Given the description of an element on the screen output the (x, y) to click on. 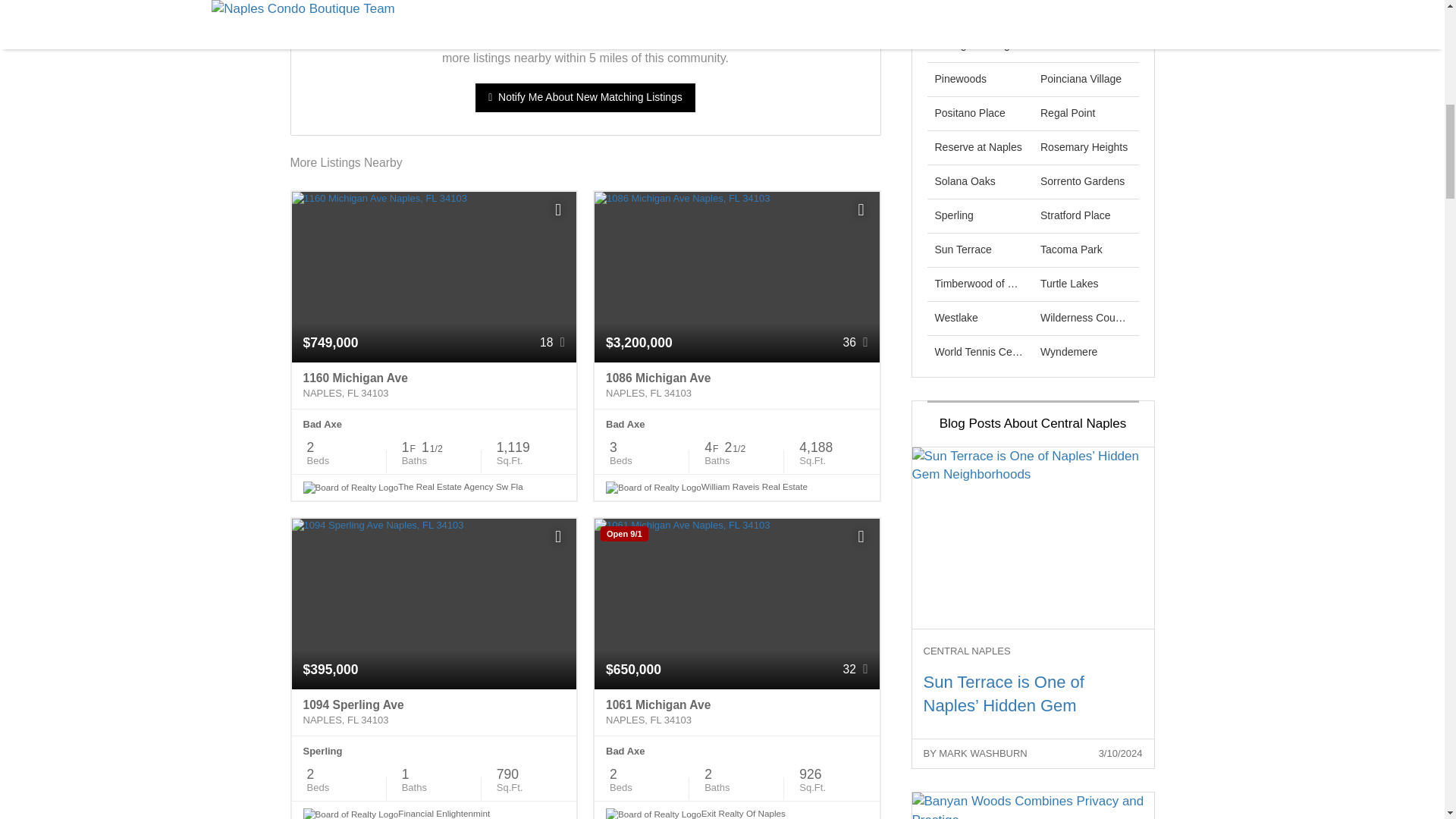
1094 Sperling Ave Naples,  FL 34103 (433, 712)
1061 Michigan Ave Naples,  FL 34103 (736, 712)
1086 Michigan Ave Naples,  FL 34103 (736, 385)
1160 Michigan Ave Naples,  FL 34103 (433, 385)
